Given the description of an element on the screen output the (x, y) to click on. 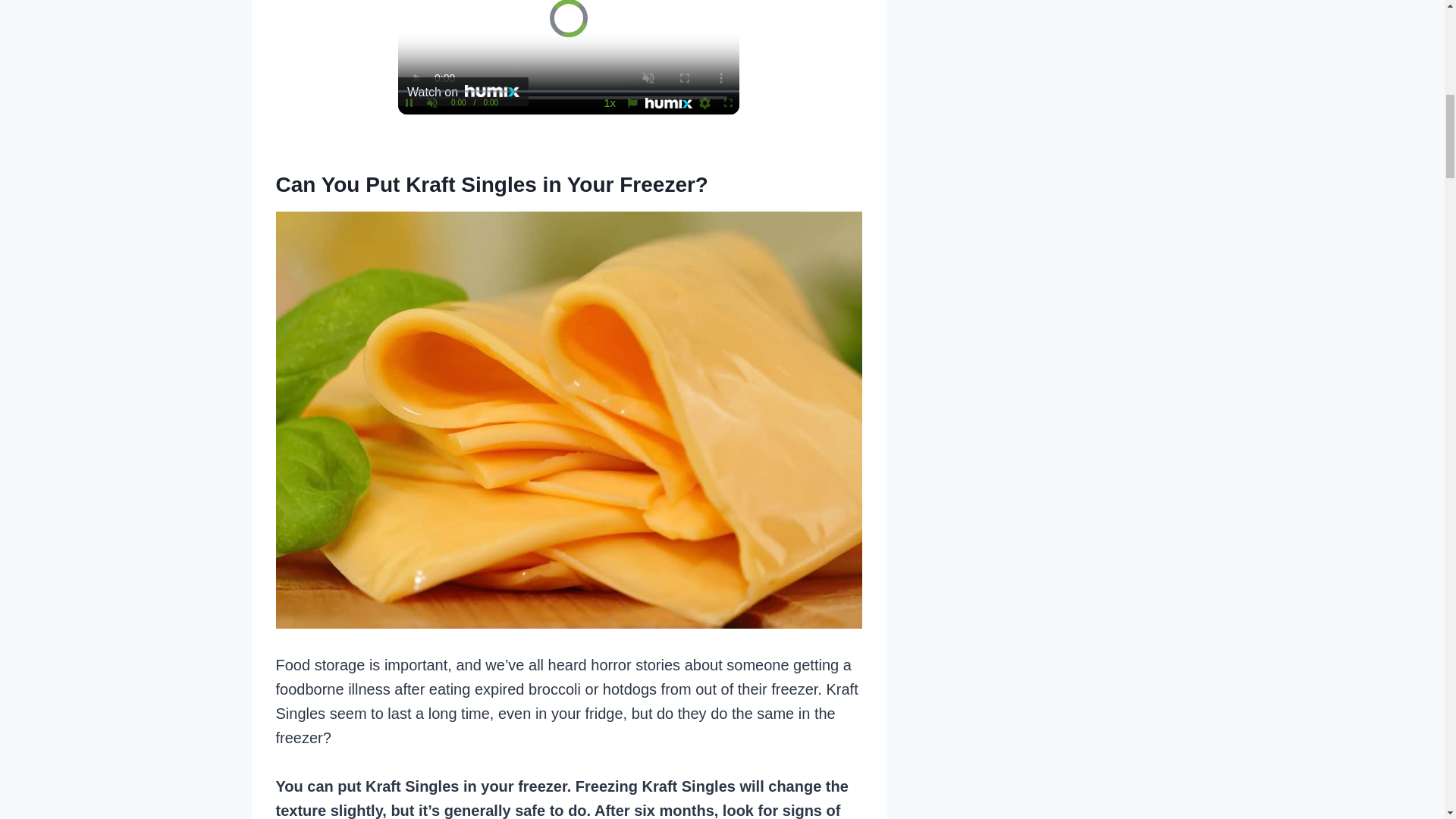
Pause (408, 102)
Unmute (432, 102)
Fullscreen (727, 102)
Pause (408, 102)
Loading (705, 102)
Report video (632, 102)
Playback Rate (609, 102)
Loading (705, 102)
Watch on (462, 91)
Playback Rate (609, 102)
Unmute (432, 102)
Fullscreen (727, 102)
